Given the description of an element on the screen output the (x, y) to click on. 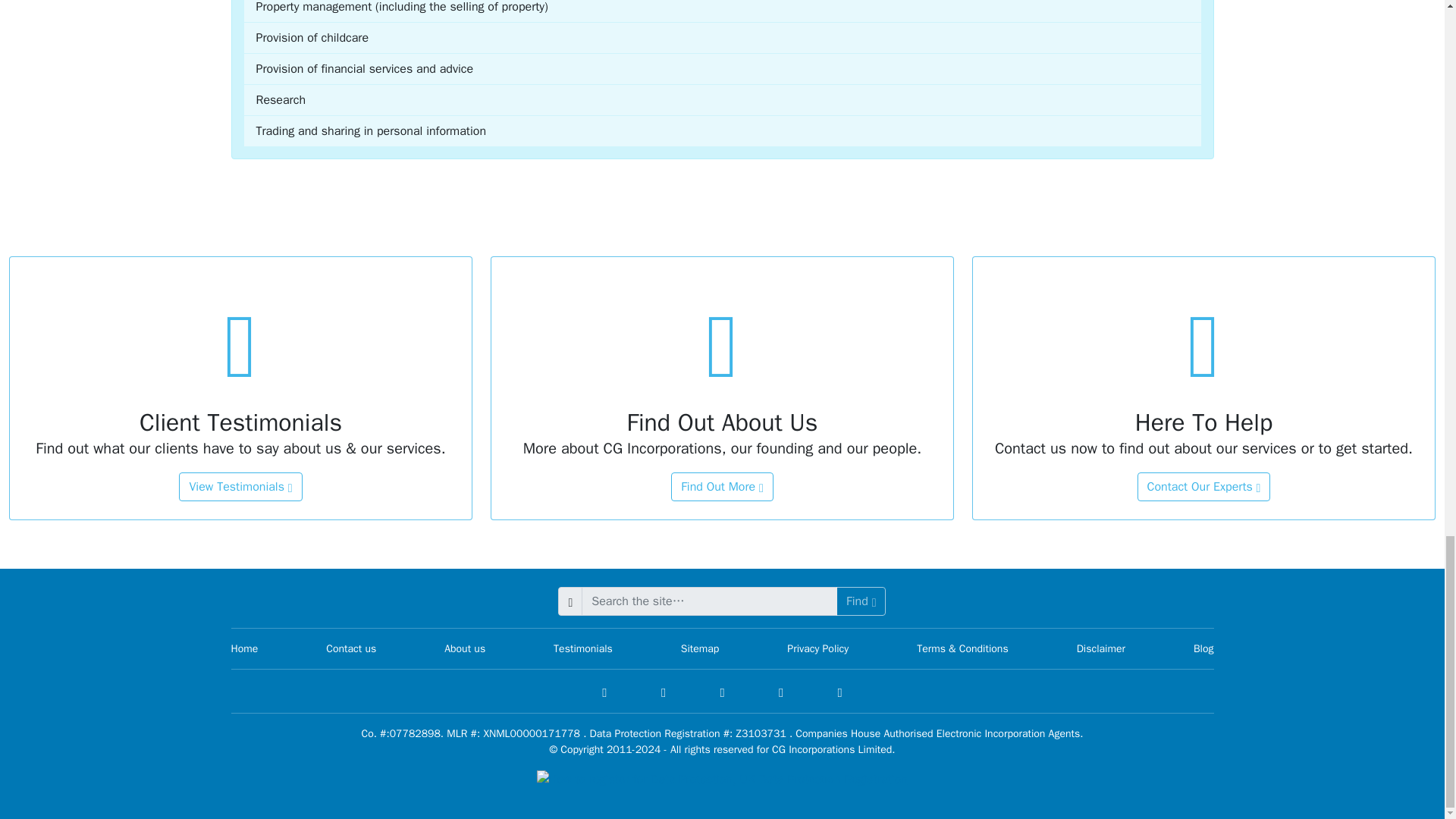
Contact Us (1204, 486)
Testimonials and Reviews (240, 486)
Find Out More (722, 486)
View Testimonials (240, 486)
About Us (722, 486)
